Given the description of an element on the screen output the (x, y) to click on. 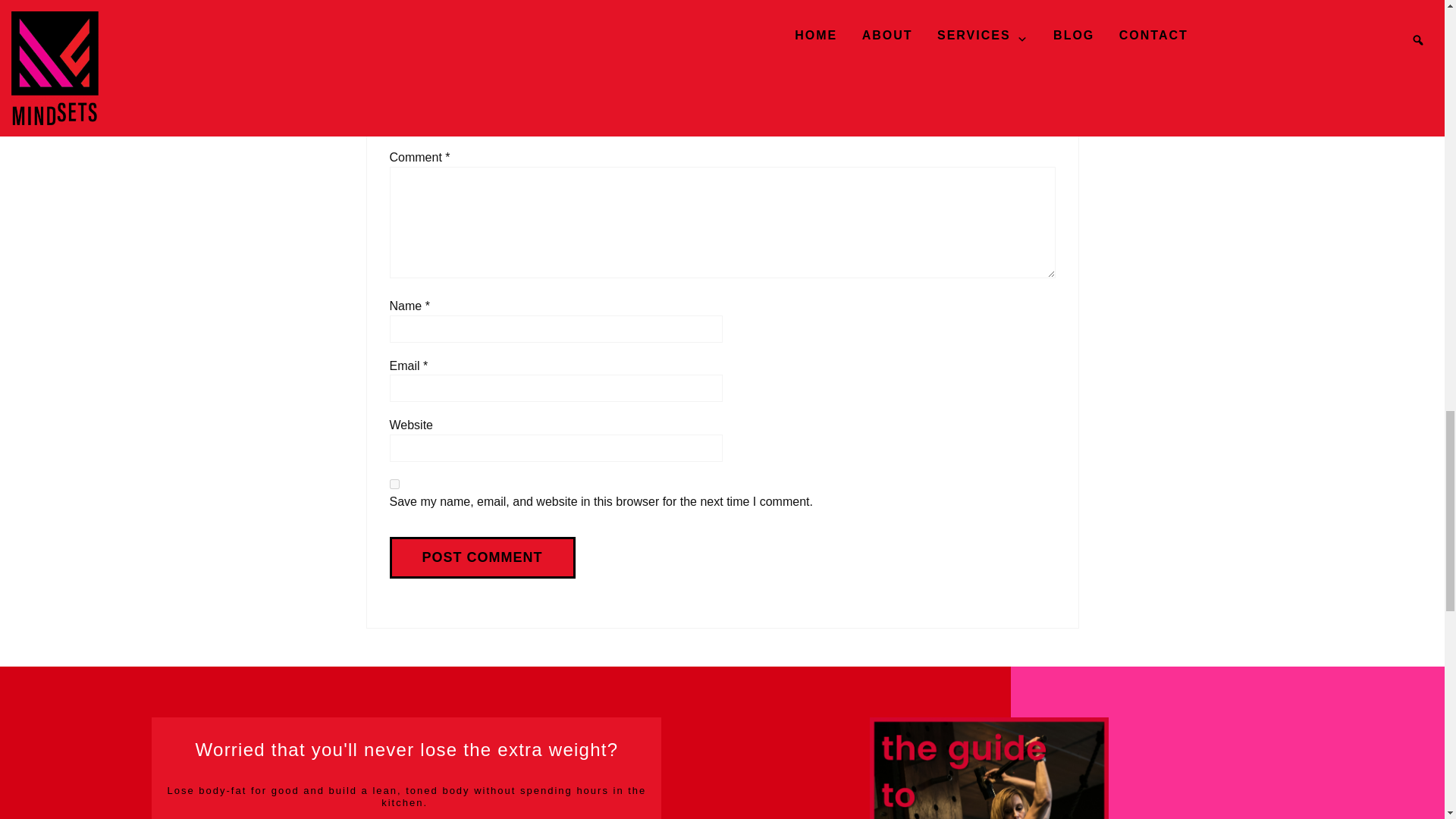
yes (394, 483)
PREVIOUS (407, 0)
Post Comment (482, 557)
NEXT (1048, 0)
Post Comment (482, 557)
